Given the description of an element on the screen output the (x, y) to click on. 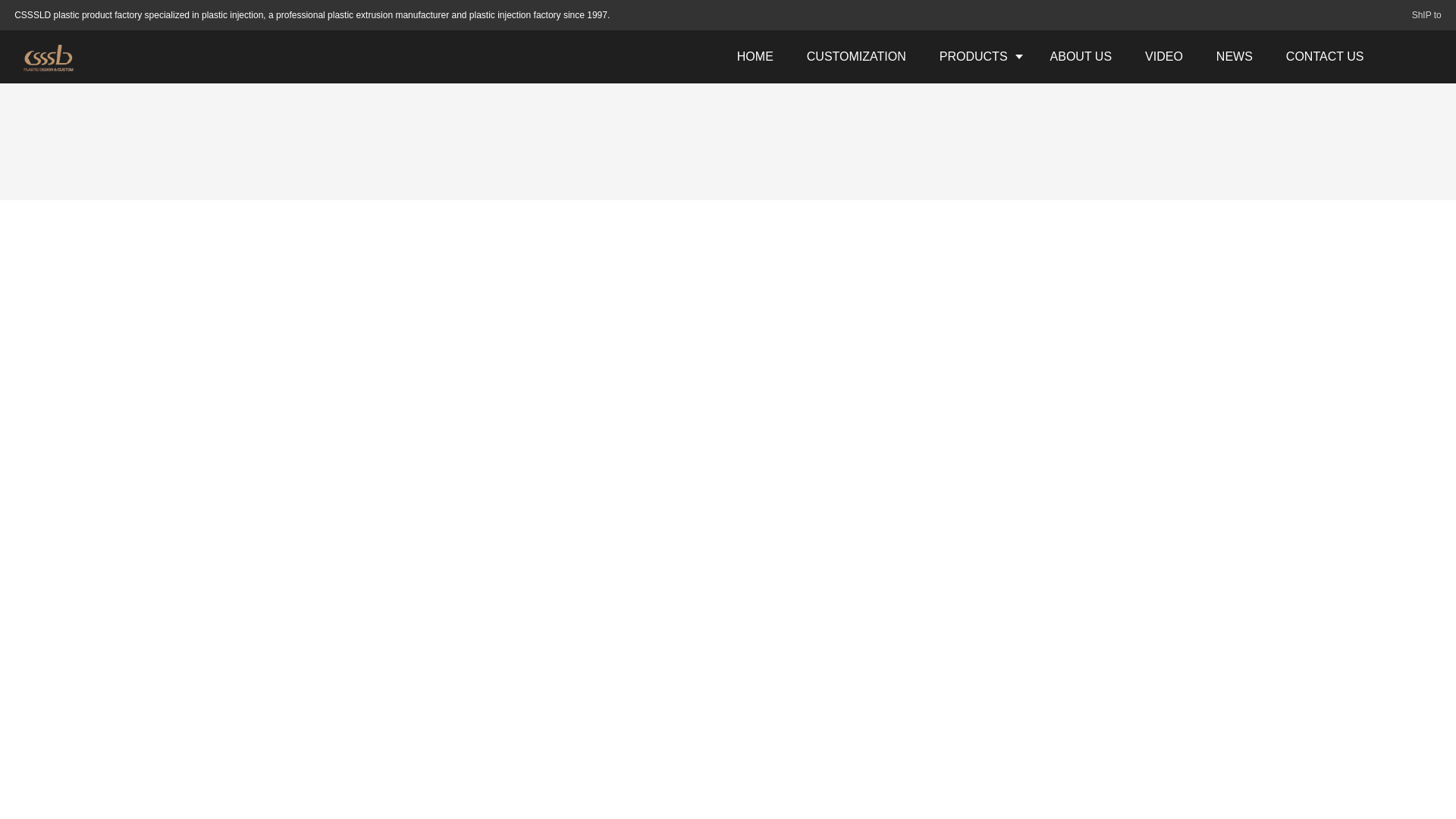
HOME (755, 56)
CONTACT US (1324, 56)
VIDEO (1163, 56)
PRODUCTS (978, 56)
CUSTOMIZATION (856, 56)
NEWS (1234, 56)
ABOUT US (1081, 56)
